Given the description of an element on the screen output the (x, y) to click on. 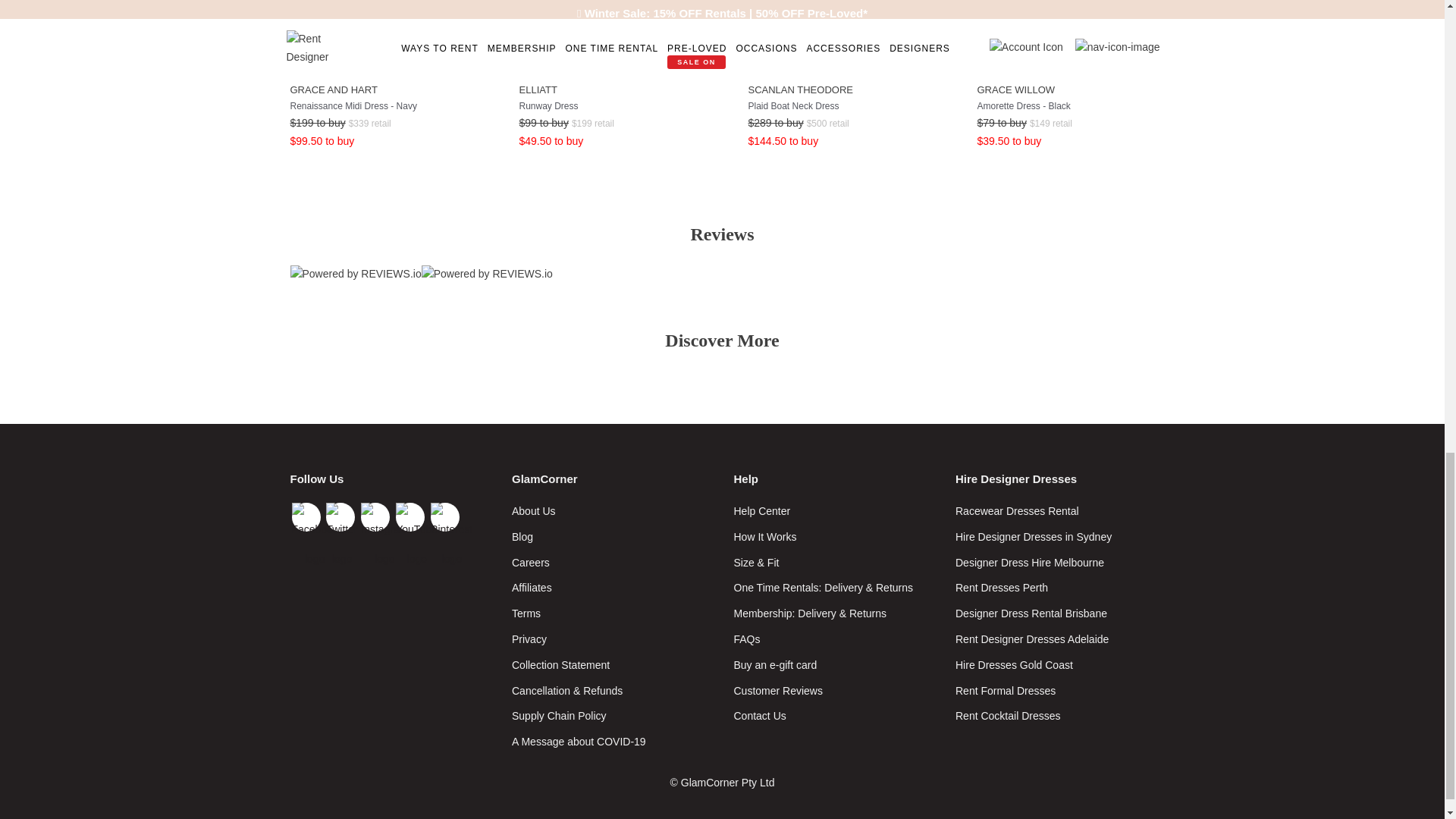
Instagram (375, 516)
Facebook (305, 516)
Pinterest (445, 516)
Twitter (340, 516)
Youtube (410, 516)
